Given the description of an element on the screen output the (x, y) to click on. 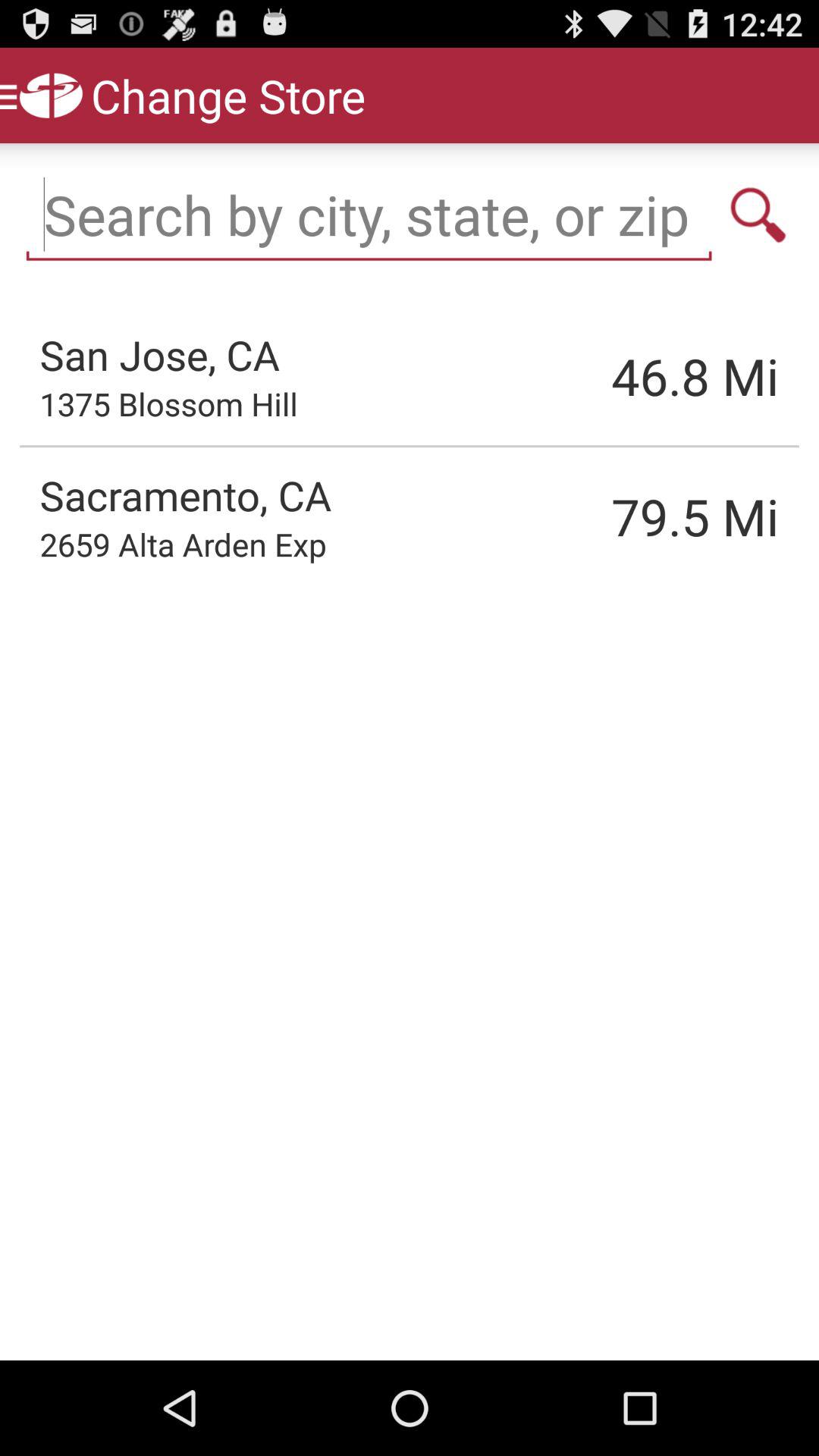
tap the app to the left of the 46.8 icon (168, 403)
